Given the description of an element on the screen output the (x, y) to click on. 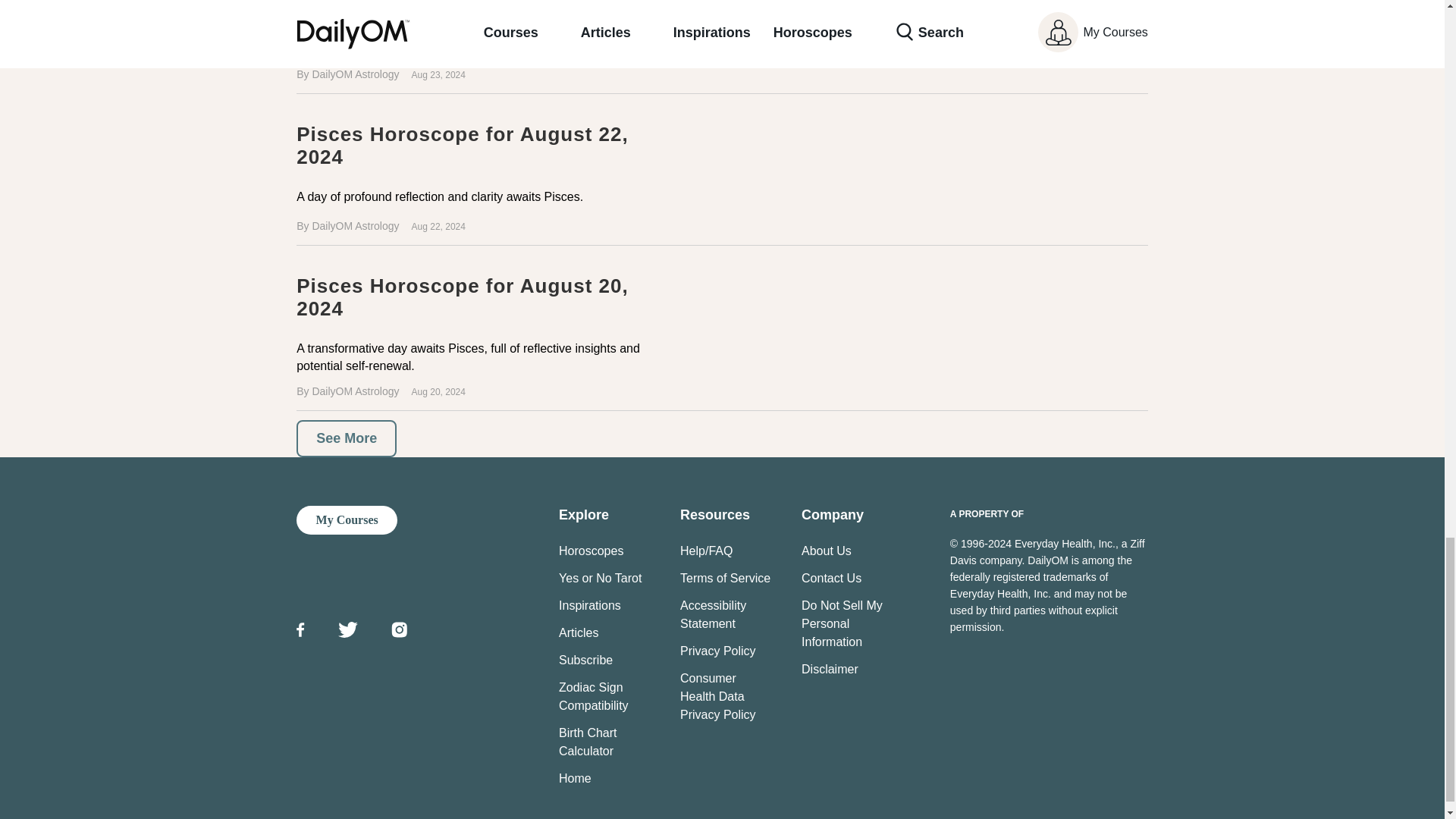
Articles (578, 632)
Subscribe (585, 659)
Zodiac Sign Compatibility (593, 695)
Inspirations (590, 604)
Yes or No Tarot (600, 577)
Pisces Horoscope for August 22, 2024 (462, 145)
See More (346, 438)
Pisces Horoscope for August 20, 2024 (462, 297)
Pisces Horoscope for August 20, 2024 (722, 332)
